Given the description of an element on the screen output the (x, y) to click on. 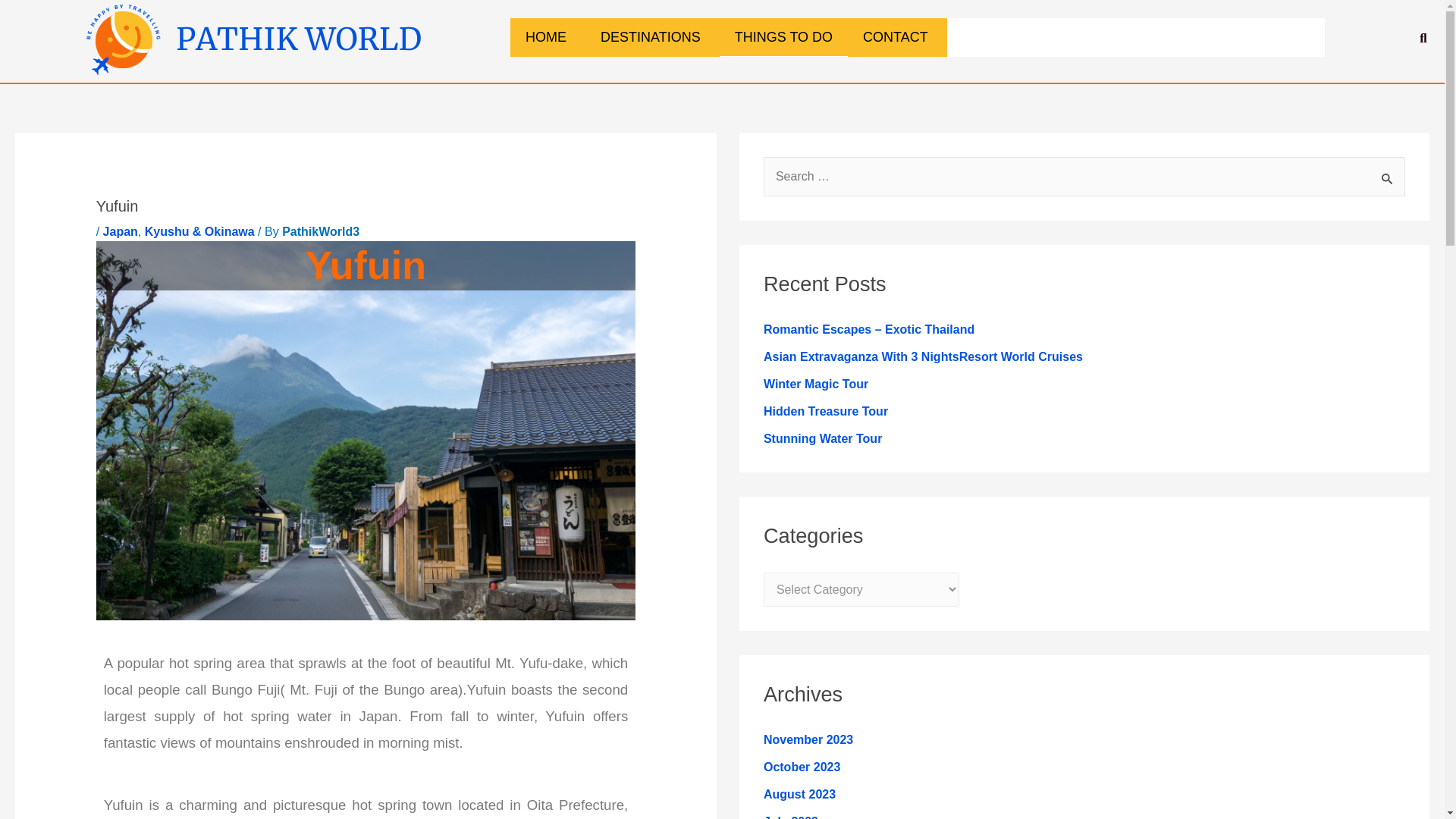
July 2023 (790, 816)
August 2023 (798, 793)
CONTACT (897, 37)
Japan (120, 231)
View all posts by PathikWorld3 (320, 231)
HOME (548, 37)
THINGS TO DO (783, 37)
Stunning Water Tour (822, 438)
PathikWorld3 (320, 231)
DESTINATIONS (652, 37)
